Given the description of an element on the screen output the (x, y) to click on. 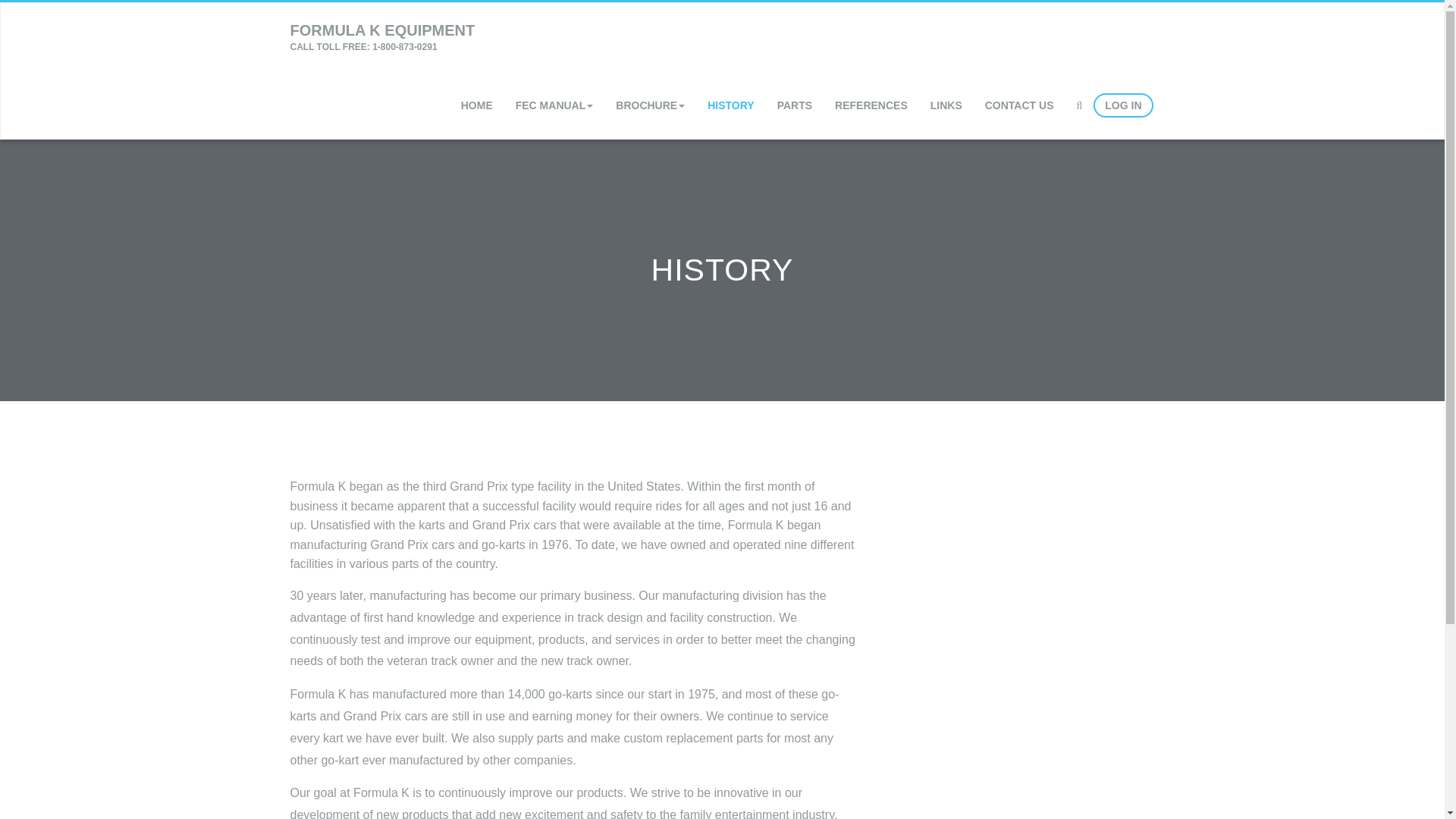
Brochure (649, 105)
FEC MANUAL (382, 37)
FEC Manual (554, 105)
